Given the description of an element on the screen output the (x, y) to click on. 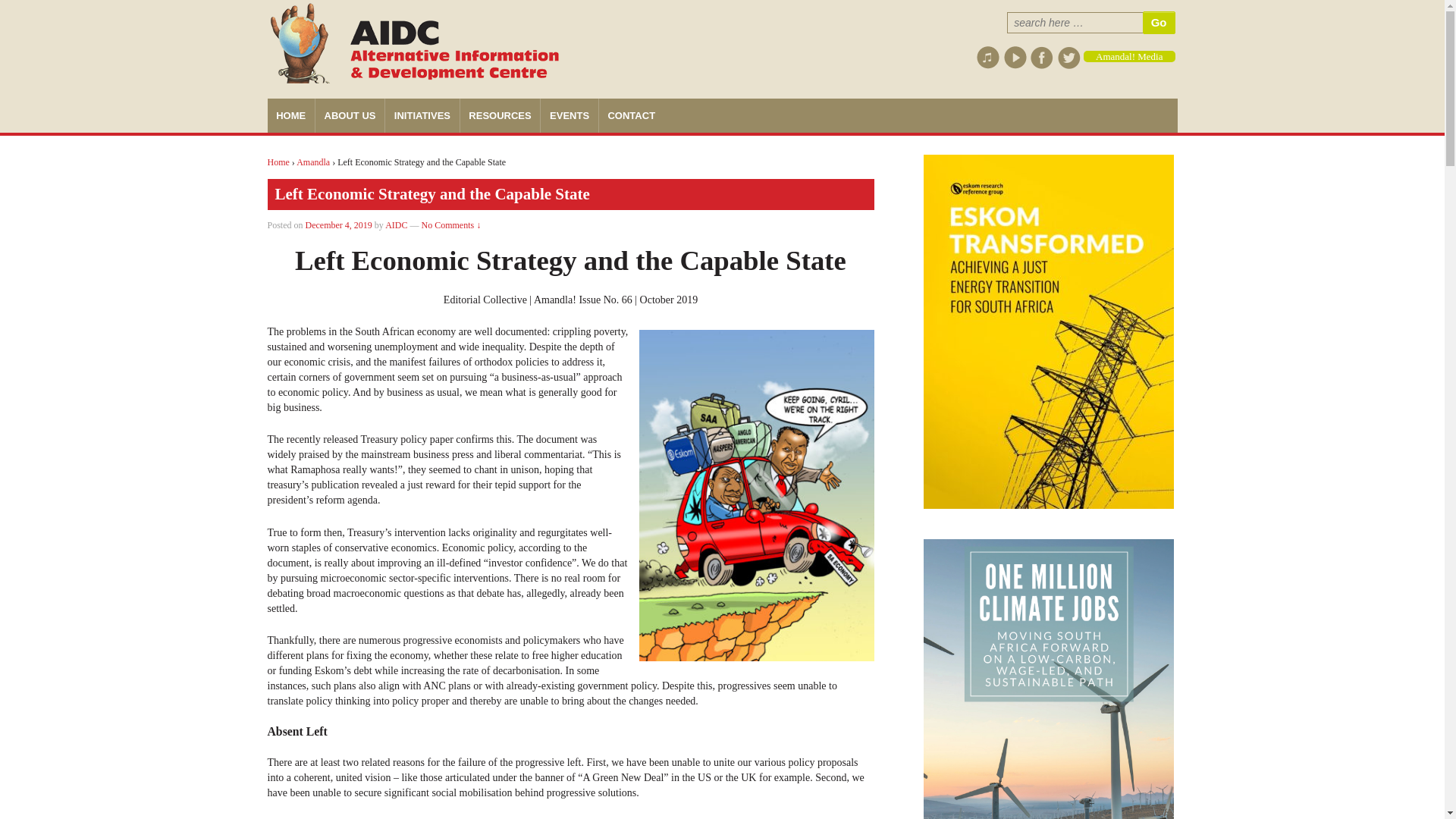
View all posts by AIDC (396, 225)
Go (1158, 22)
Amandal! Media (1128, 56)
INITIATIVES (422, 115)
RESOURCES (500, 115)
Left Economic Strategy and the Capable State (338, 225)
HOME (290, 115)
Go (1158, 22)
ABOUT US (349, 115)
